Given the description of an element on the screen output the (x, y) to click on. 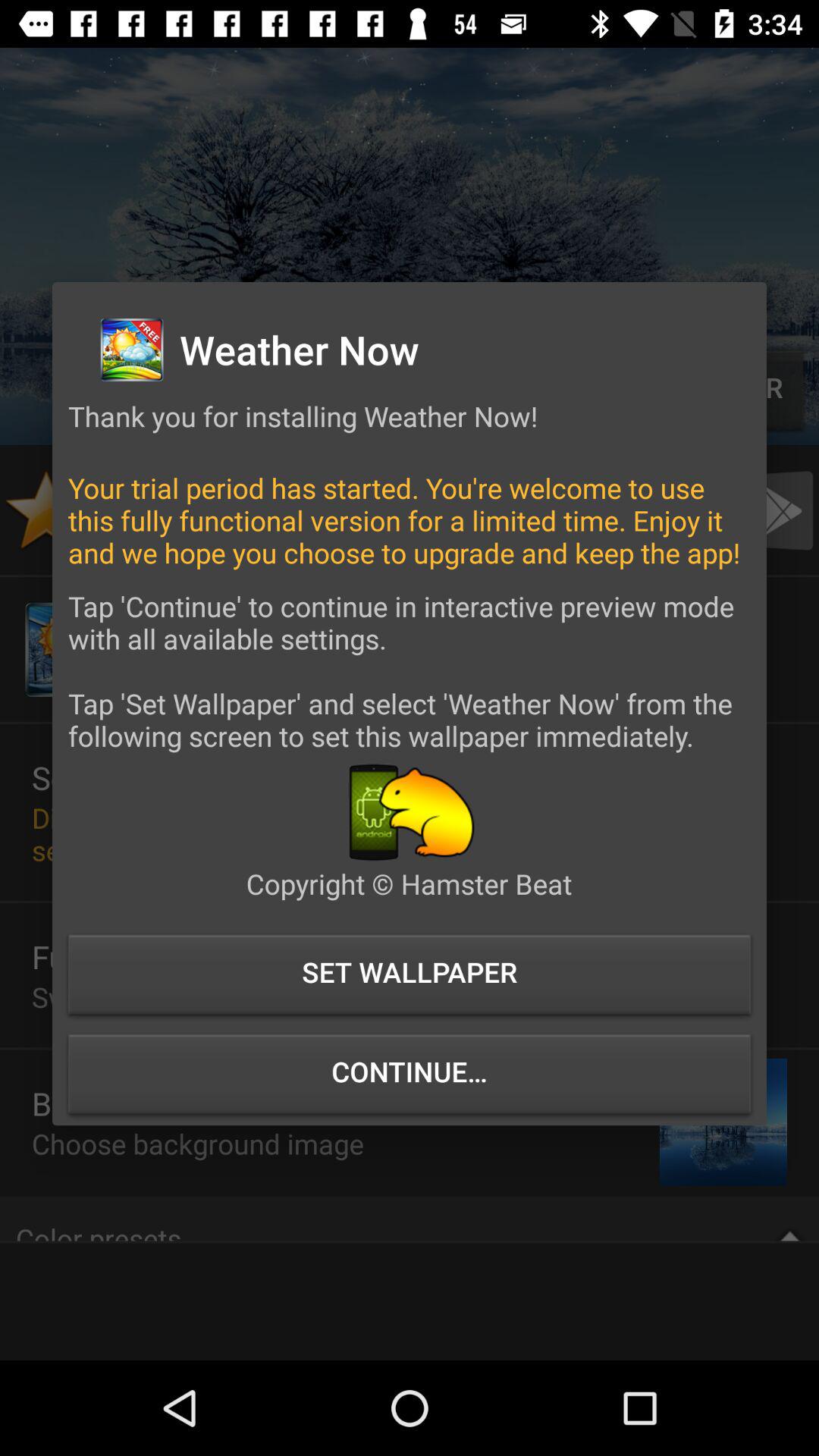
click icon (409, 811)
